Given the description of an element on the screen output the (x, y) to click on. 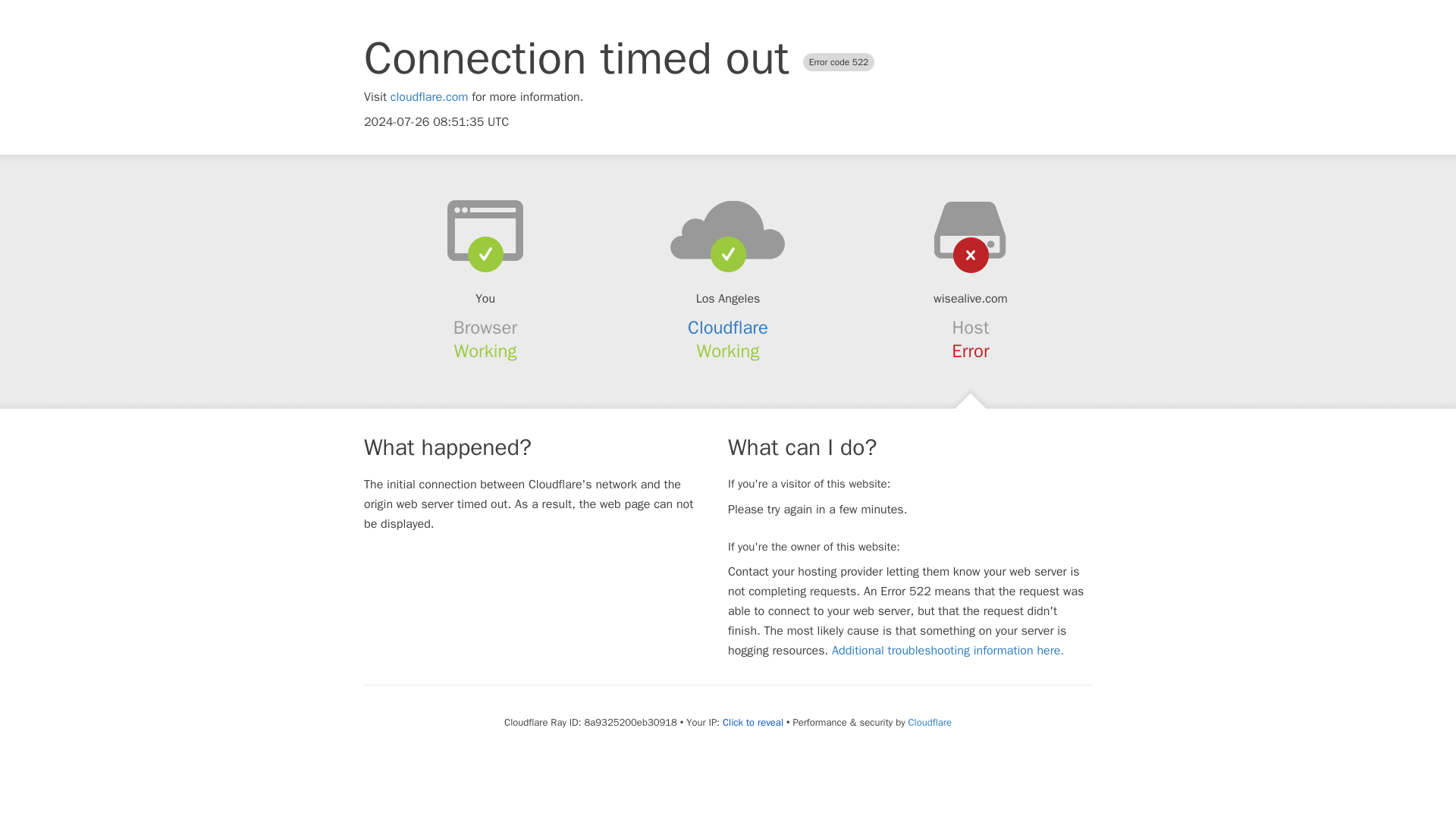
Cloudflare (930, 721)
Click to reveal (752, 722)
cloudflare.com (429, 96)
Cloudflare (727, 327)
Additional troubleshooting information here. (947, 650)
